Given the description of an element on the screen output the (x, y) to click on. 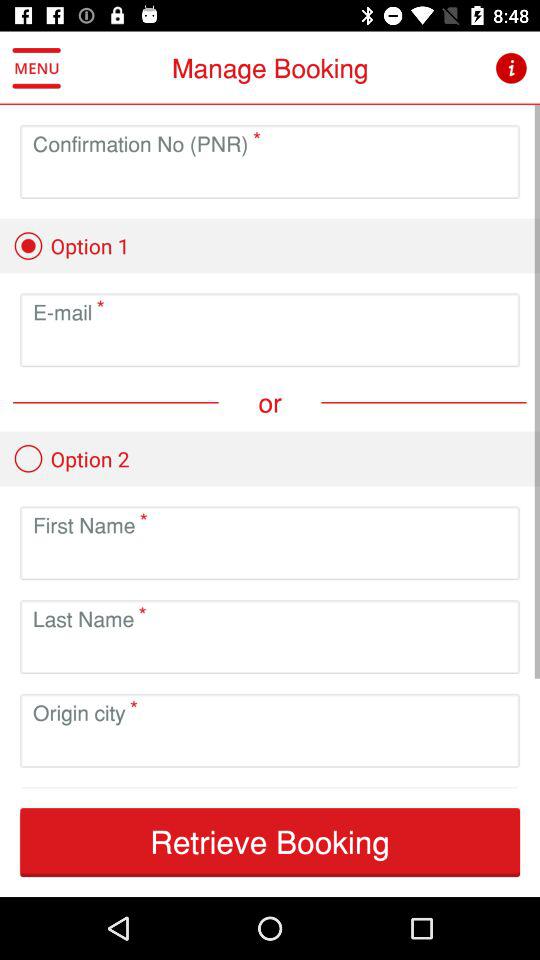
first name space (270, 558)
